Given the description of an element on the screen output the (x, y) to click on. 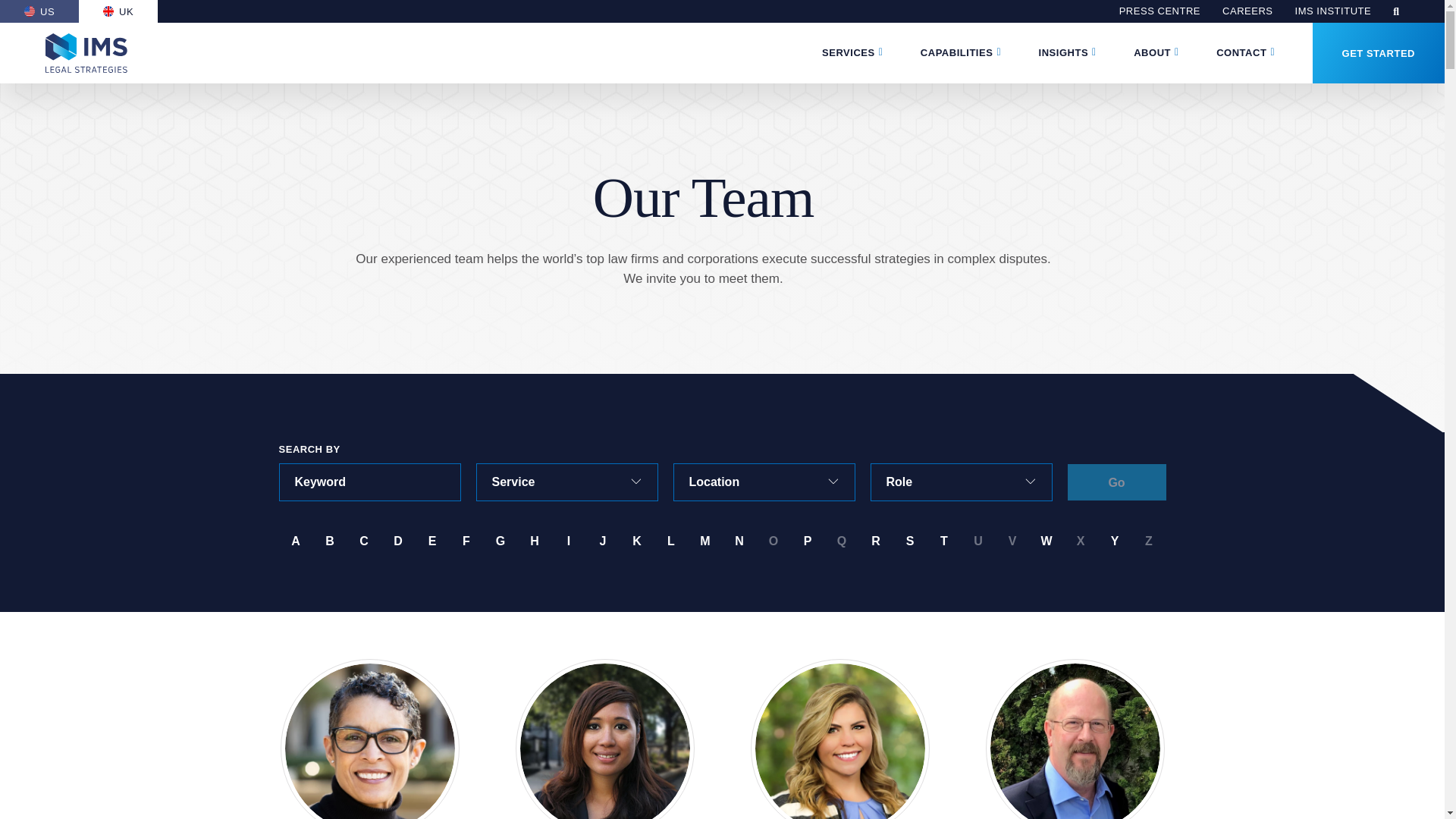
CAREERS (1247, 10)
PRESS CENTRE (1159, 10)
SERVICES (848, 52)
UK (117, 11)
Submenu Toggle Button (880, 51)
Submenu Toggle Button (998, 51)
CAPABILITIES (956, 52)
